Given the description of an element on the screen output the (x, y) to click on. 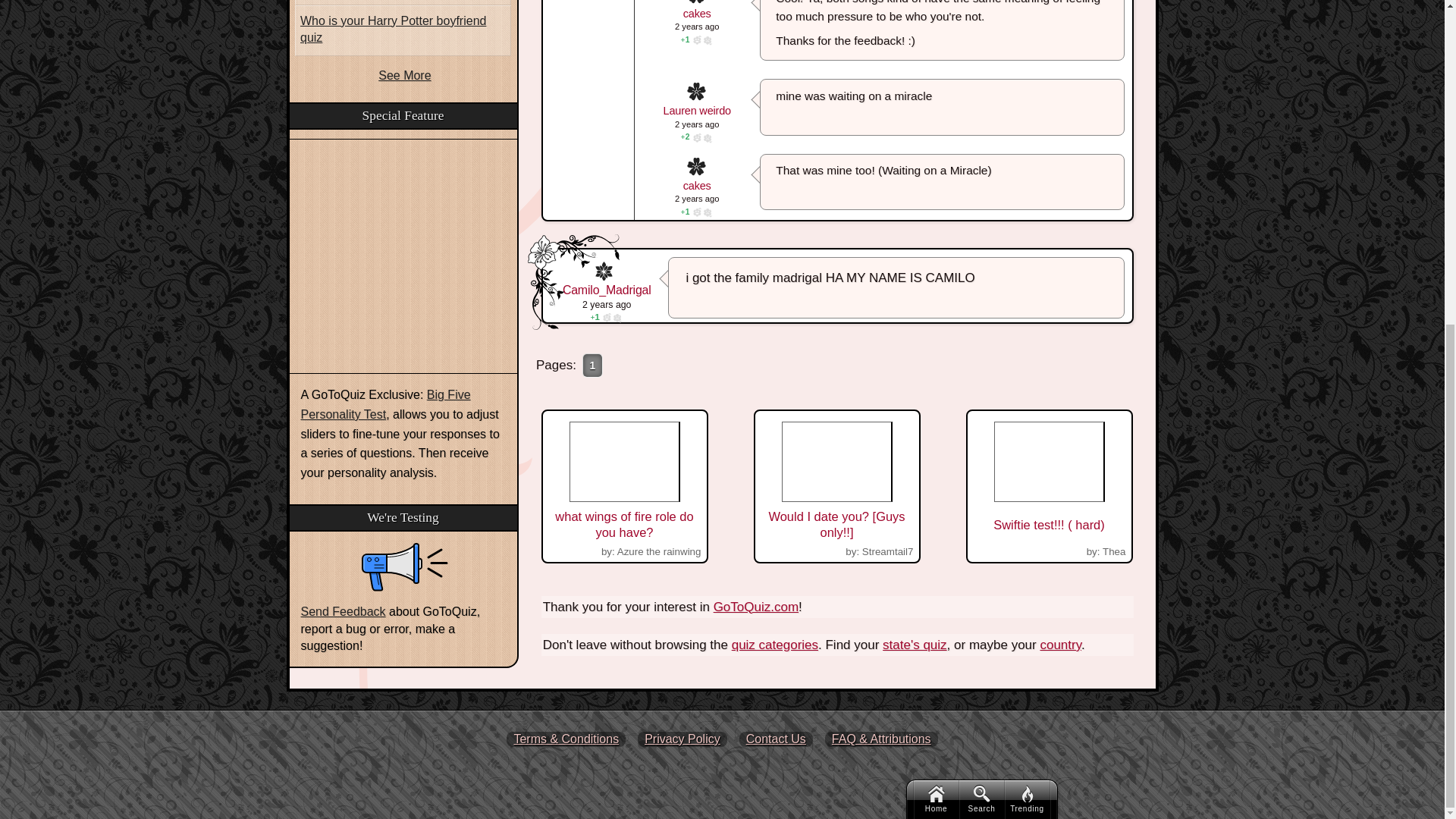
Contact Us (775, 739)
GoToQuiz.com (755, 606)
country (1060, 644)
Send Feedback (342, 611)
Who is your Harry Potter boyfriend quiz (403, 30)
Trending (1026, 268)
state's quiz (914, 644)
cakes (624, 486)
Privacy Policy (696, 185)
